Given the description of an element on the screen output the (x, y) to click on. 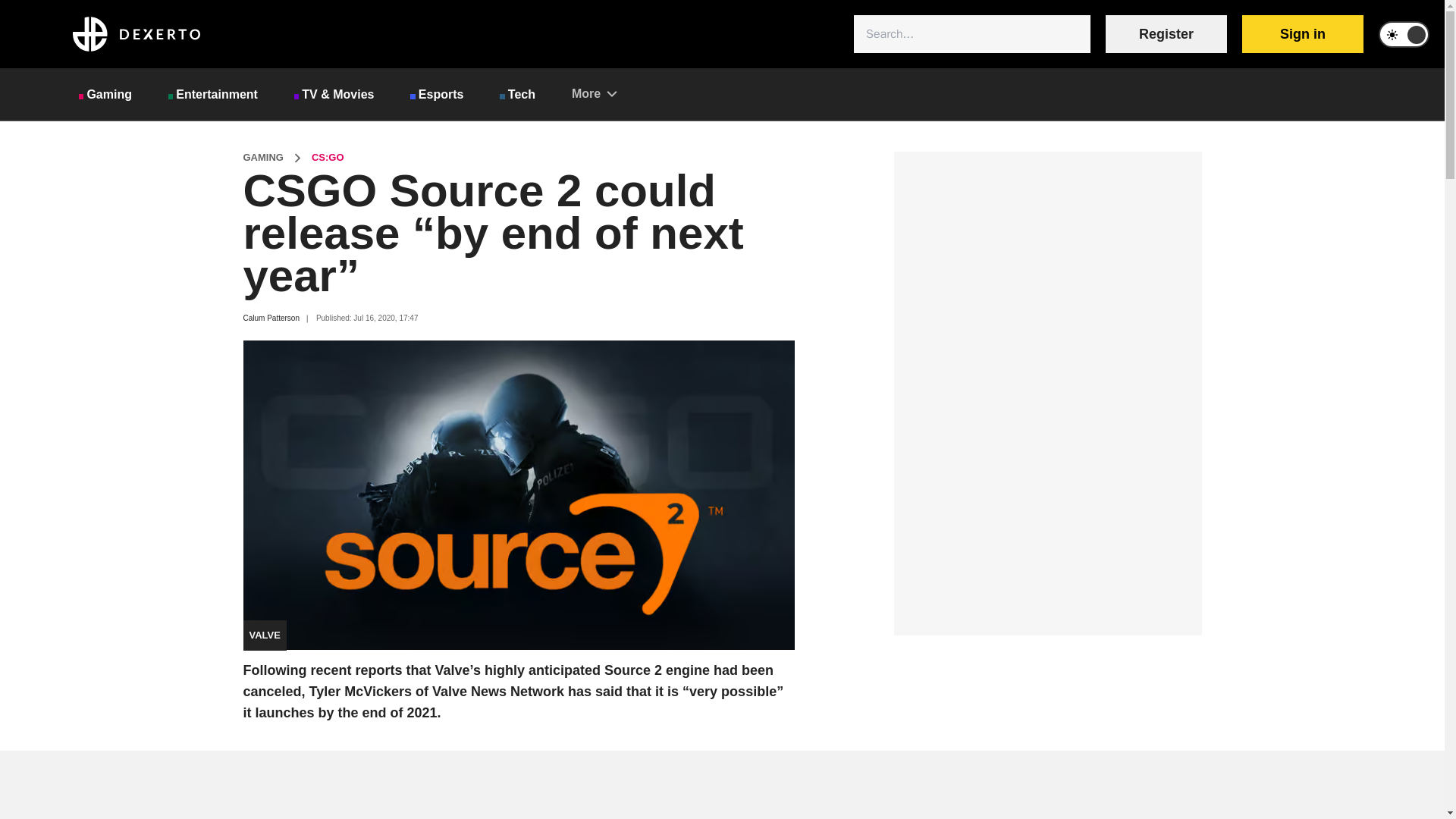
Esports (436, 93)
Tech (517, 93)
Sign in (1301, 34)
CS:GO (327, 157)
Register (1166, 34)
Entertainment (212, 93)
More (593, 93)
Gaming (105, 93)
GAMING (262, 157)
Calum Patterson (270, 318)
